Given the description of an element on the screen output the (x, y) to click on. 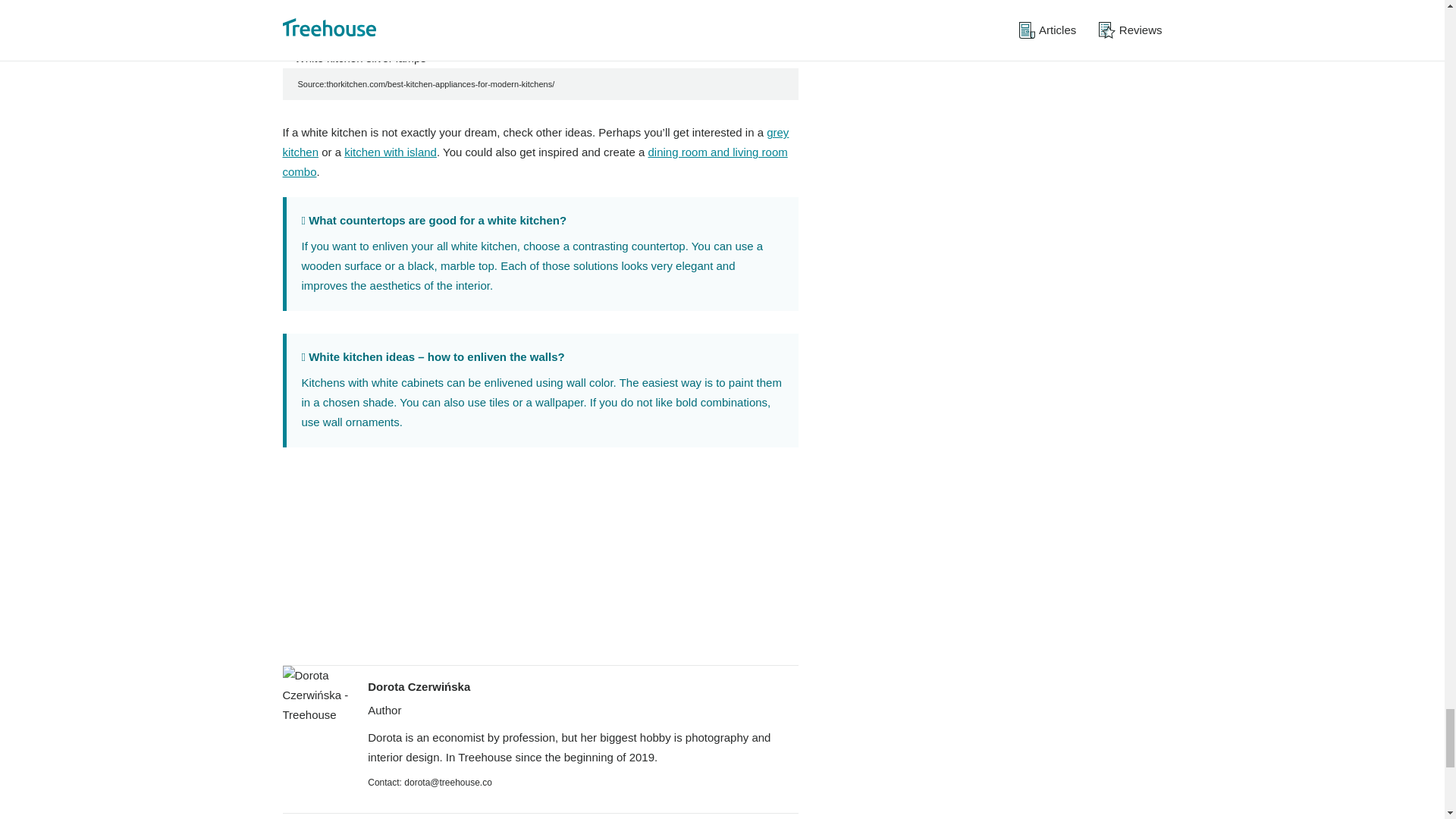
grey kitchen (535, 142)
kitchen with island (389, 151)
dining room and living room combo (534, 161)
